Given the description of an element on the screen output the (x, y) to click on. 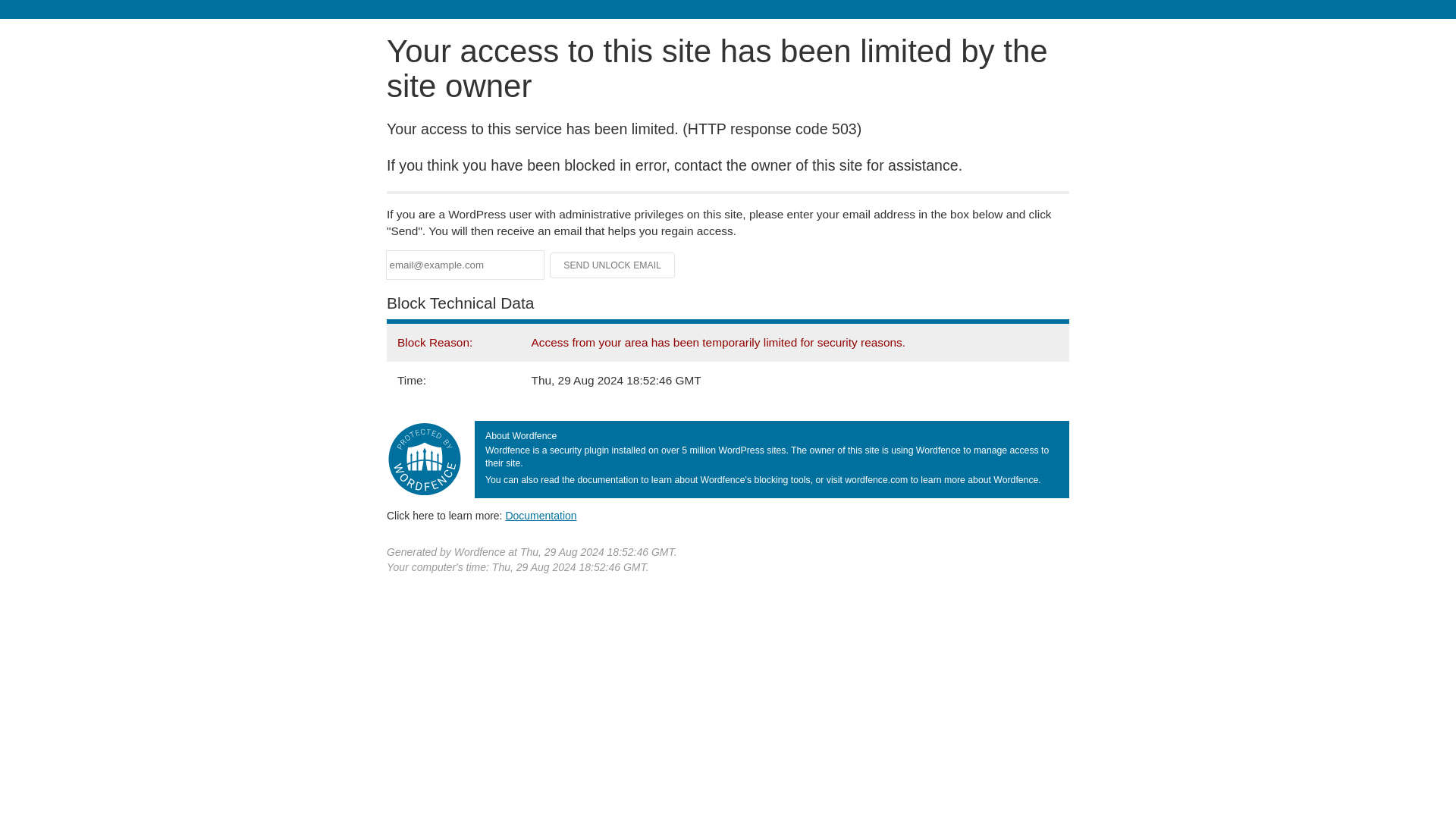
Send Unlock Email (612, 265)
Send Unlock Email (612, 265)
Documentation (540, 515)
